Given the description of an element on the screen output the (x, y) to click on. 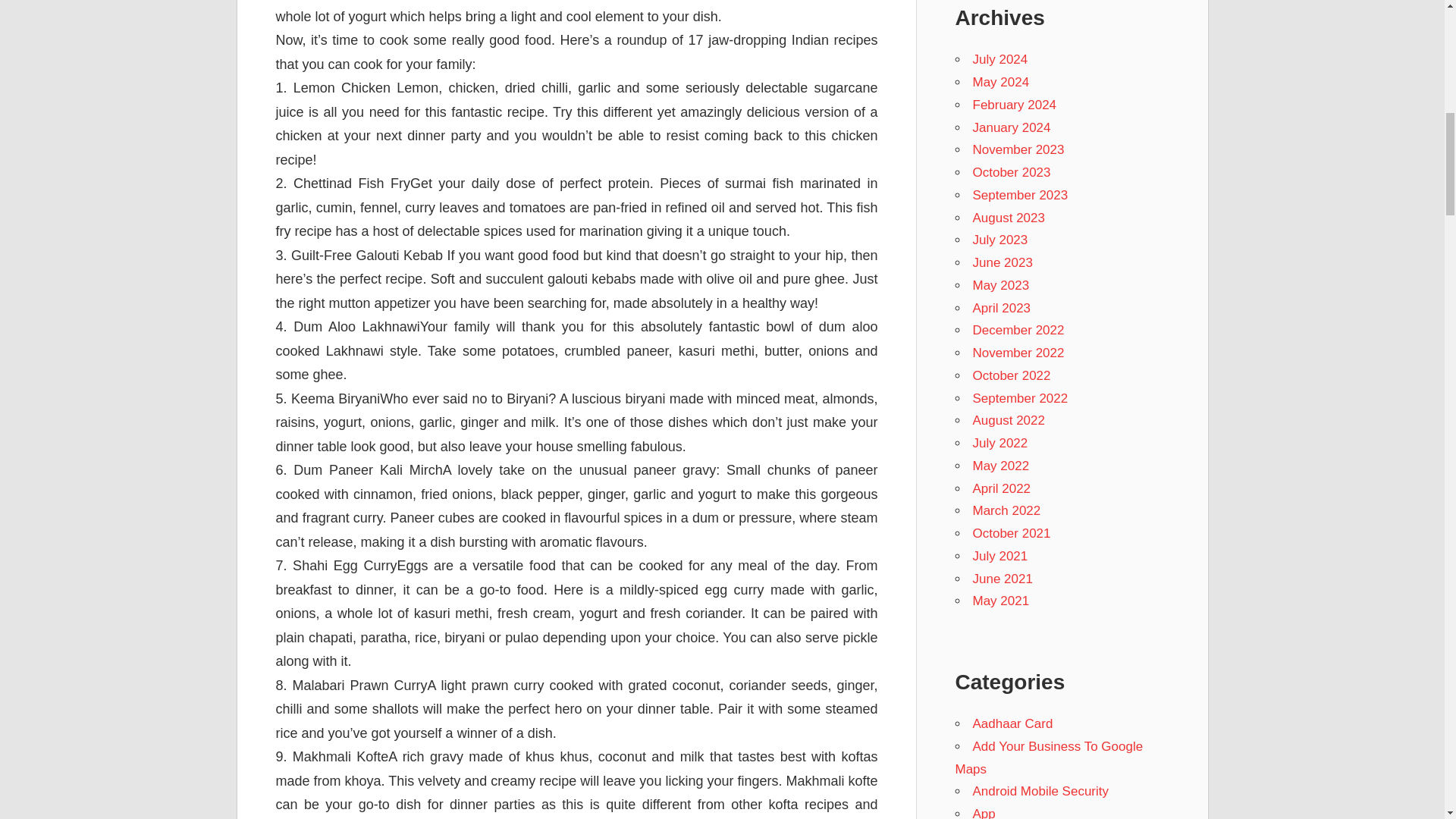
June 2021 (1002, 578)
October 2023 (1010, 172)
July 2023 (999, 239)
April 2023 (1001, 308)
April 2022 (1001, 488)
July 2021 (999, 555)
August 2022 (1007, 420)
Add Your Business To Google Maps (1048, 757)
December 2022 (1018, 329)
January 2024 (1010, 127)
